Given the description of an element on the screen output the (x, y) to click on. 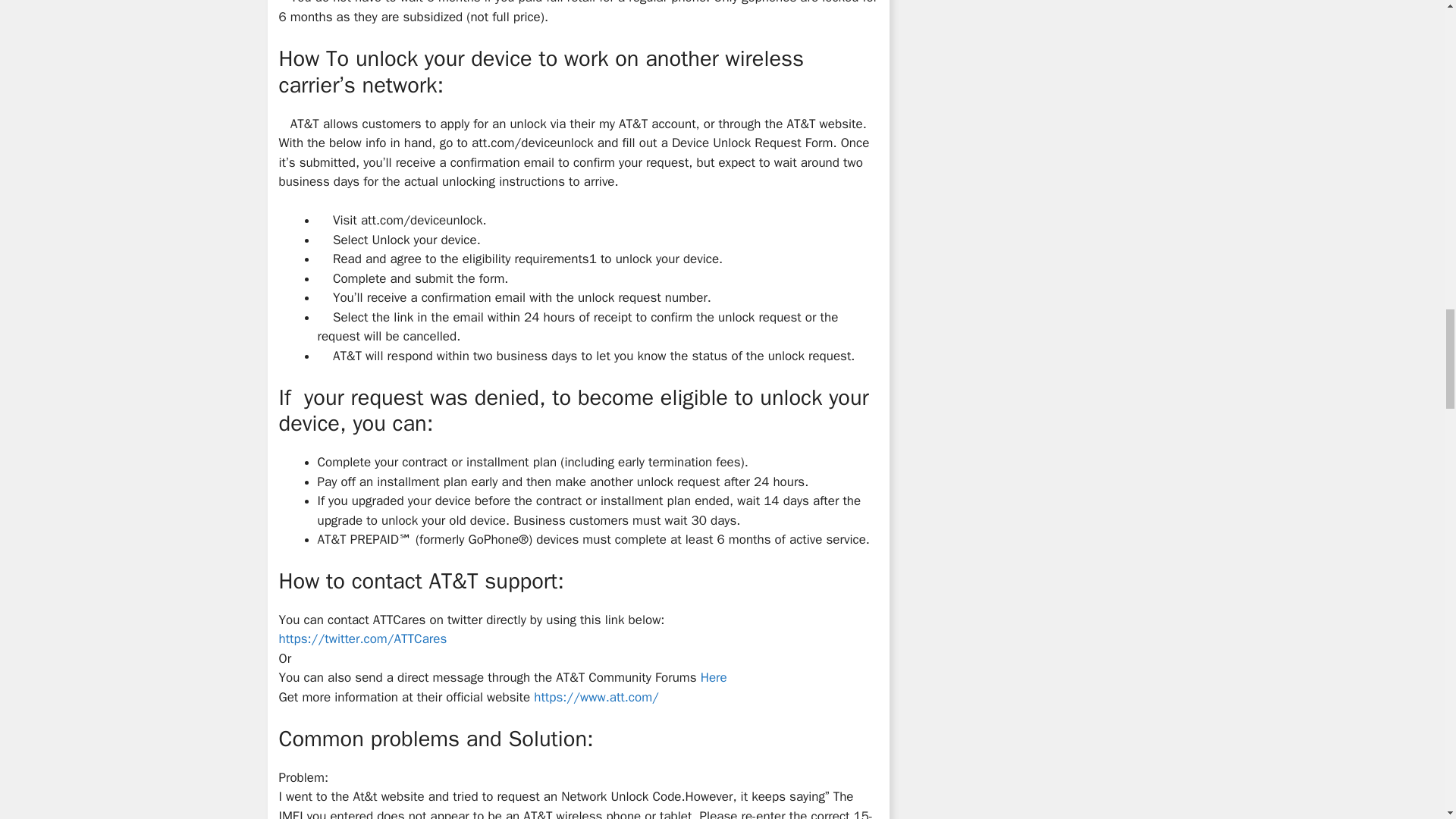
Here (713, 677)
